Given the description of an element on the screen output the (x, y) to click on. 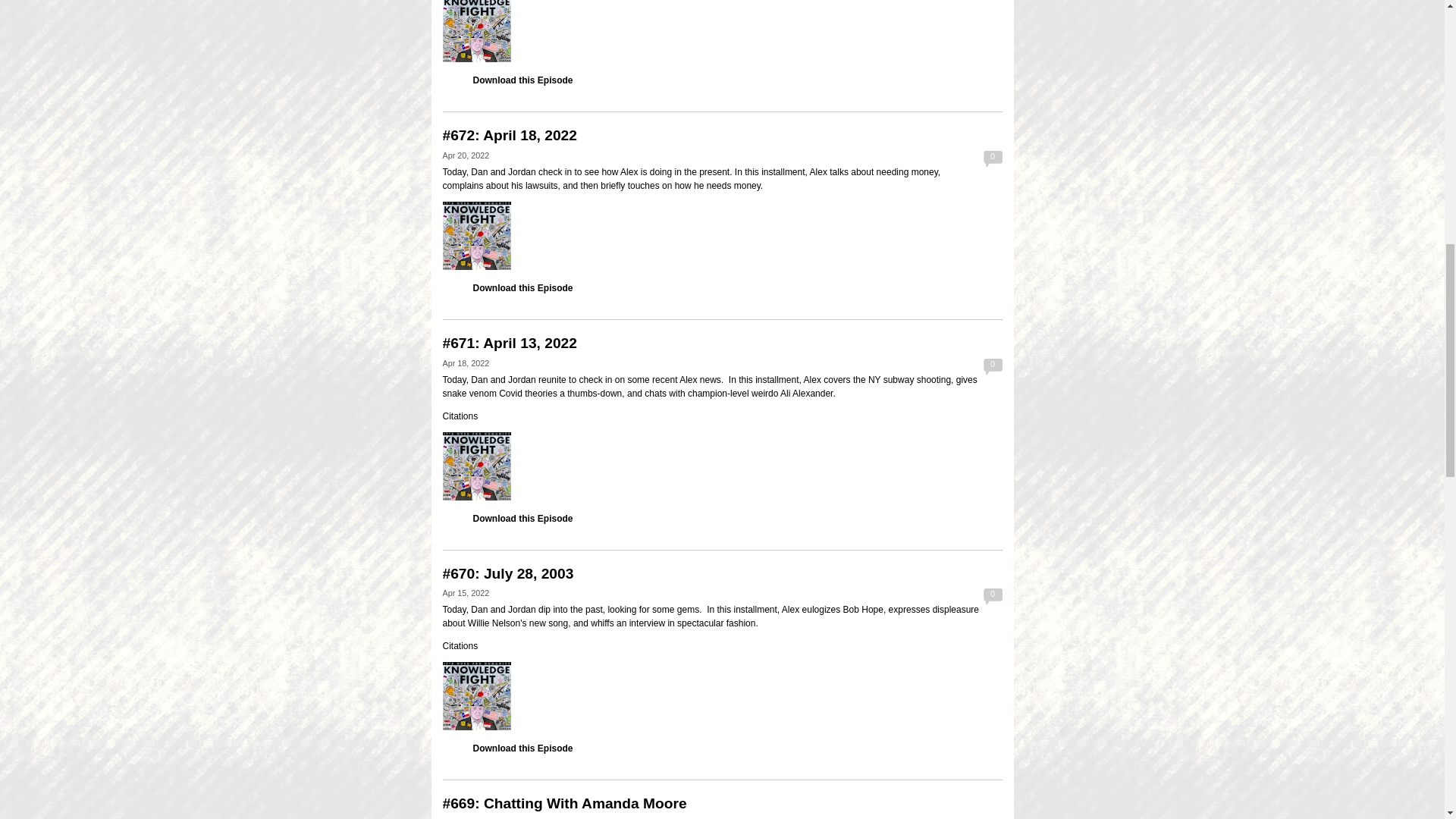
Libsyn Player (722, 466)
Libsyn Player (722, 31)
Libsyn Player (722, 235)
Libsyn Player (722, 695)
